Given the description of an element on the screen output the (x, y) to click on. 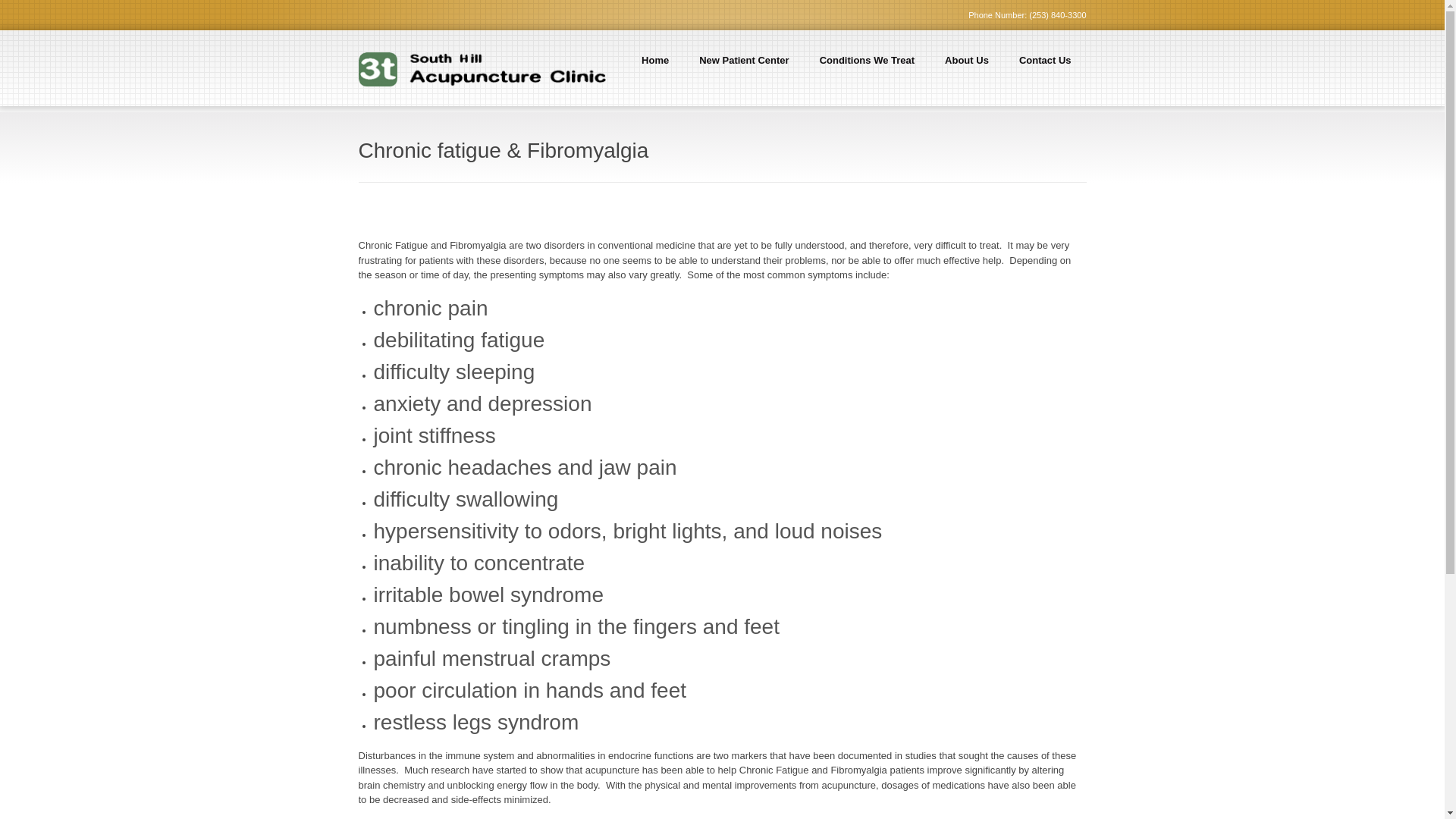
Conditions We Treat Element type: text (866, 68)
Contact Us Element type: text (1045, 68)
New Patient Center Element type: text (743, 68)
Home Element type: text (655, 68)
About Us Element type: text (966, 68)
